Given the description of an element on the screen output the (x, y) to click on. 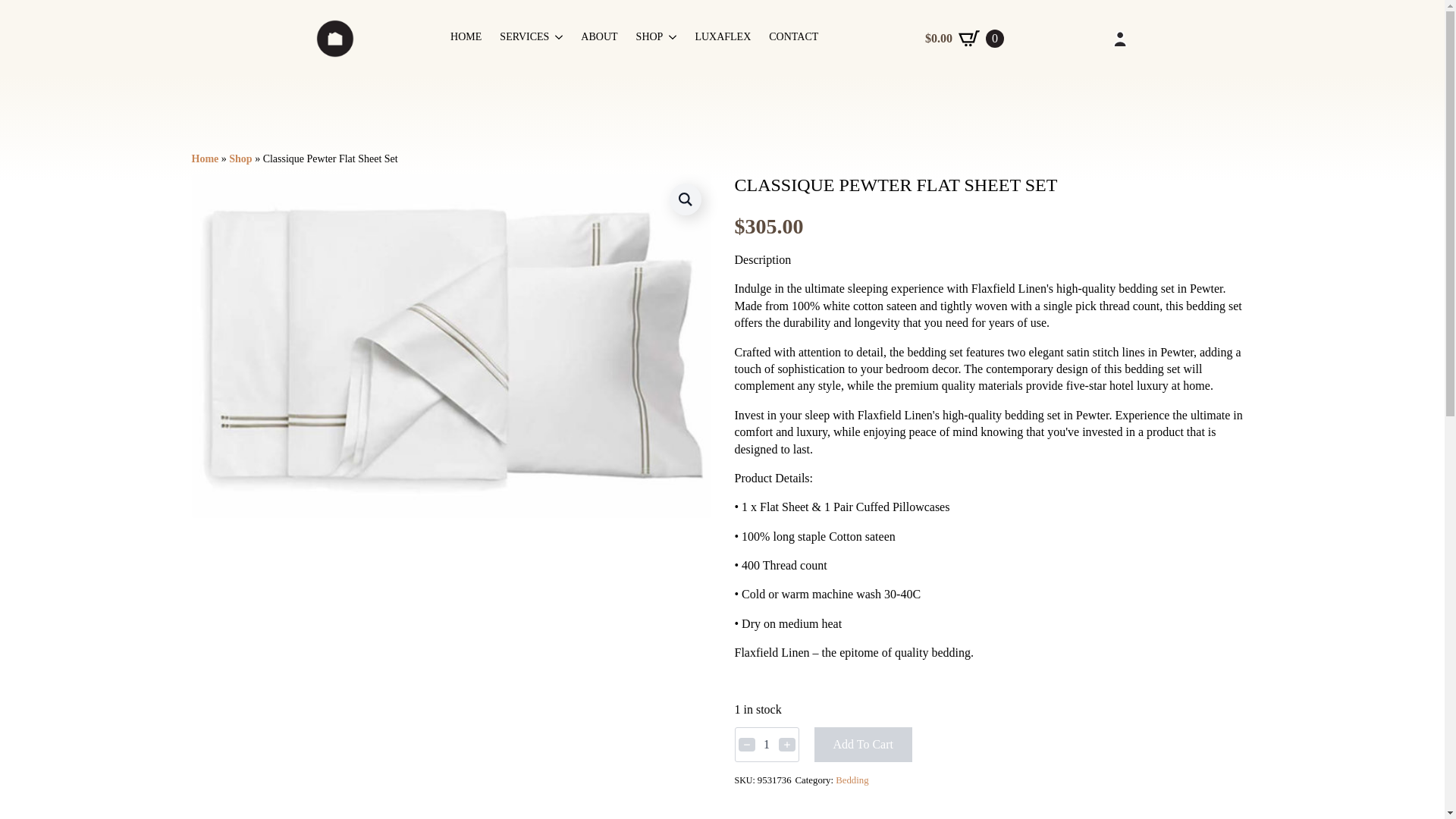
ABOUT (598, 38)
Add To Cart (862, 744)
CONTACT (793, 38)
Home (204, 158)
Shop (239, 158)
SHOP (649, 38)
LUXAFLEX (722, 38)
1 (765, 744)
SERVICES (523, 38)
